Given the description of an element on the screen output the (x, y) to click on. 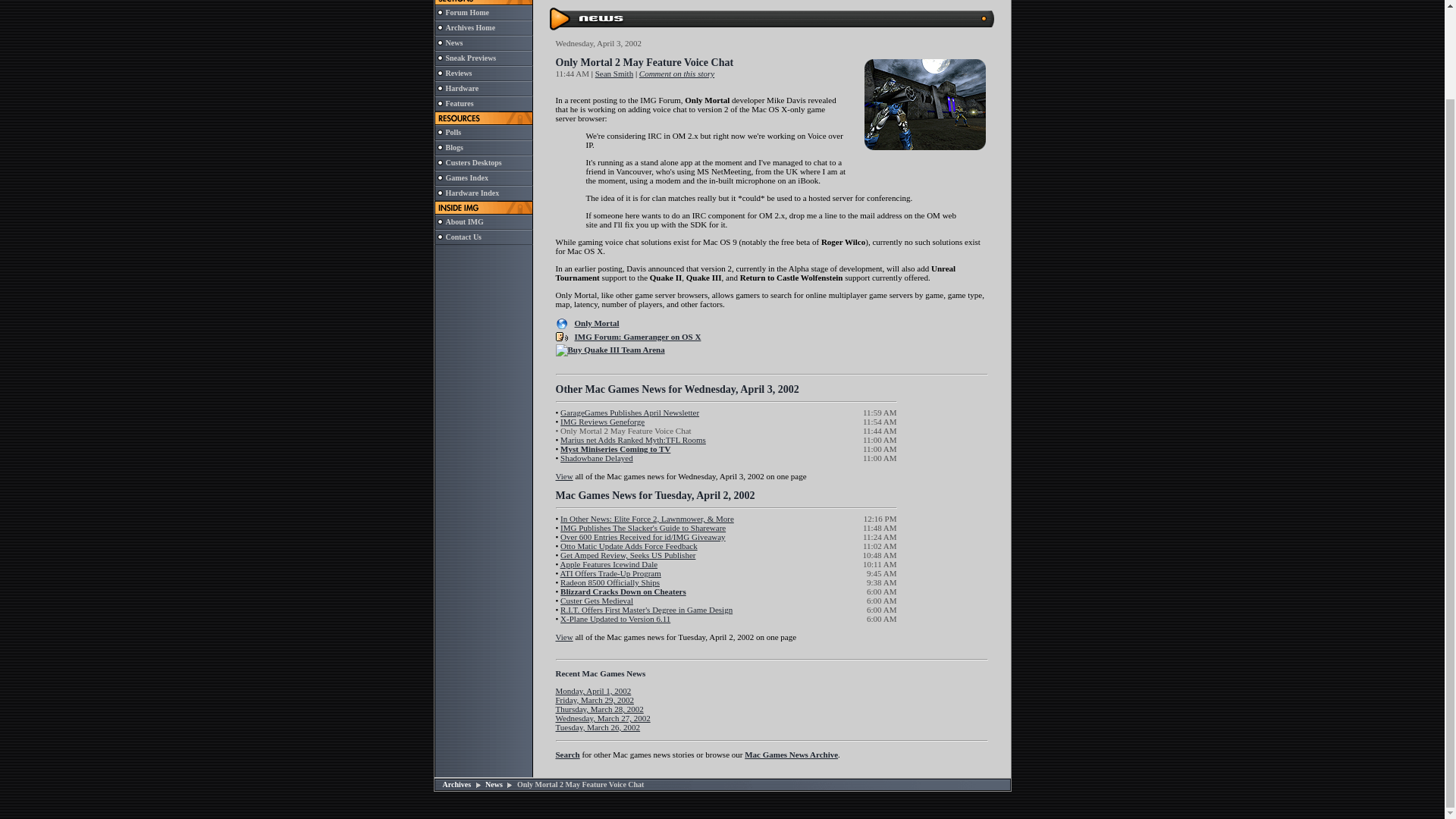
News (454, 42)
Reviews (458, 72)
Hardware Index (472, 193)
View (563, 475)
Contact Us (463, 236)
Games Index (466, 177)
Custers Desktops (473, 162)
Comment on this story (676, 72)
Marius net Adds Ranked Myth:TFL Rooms (633, 439)
Features (459, 103)
